Given the description of an element on the screen output the (x, y) to click on. 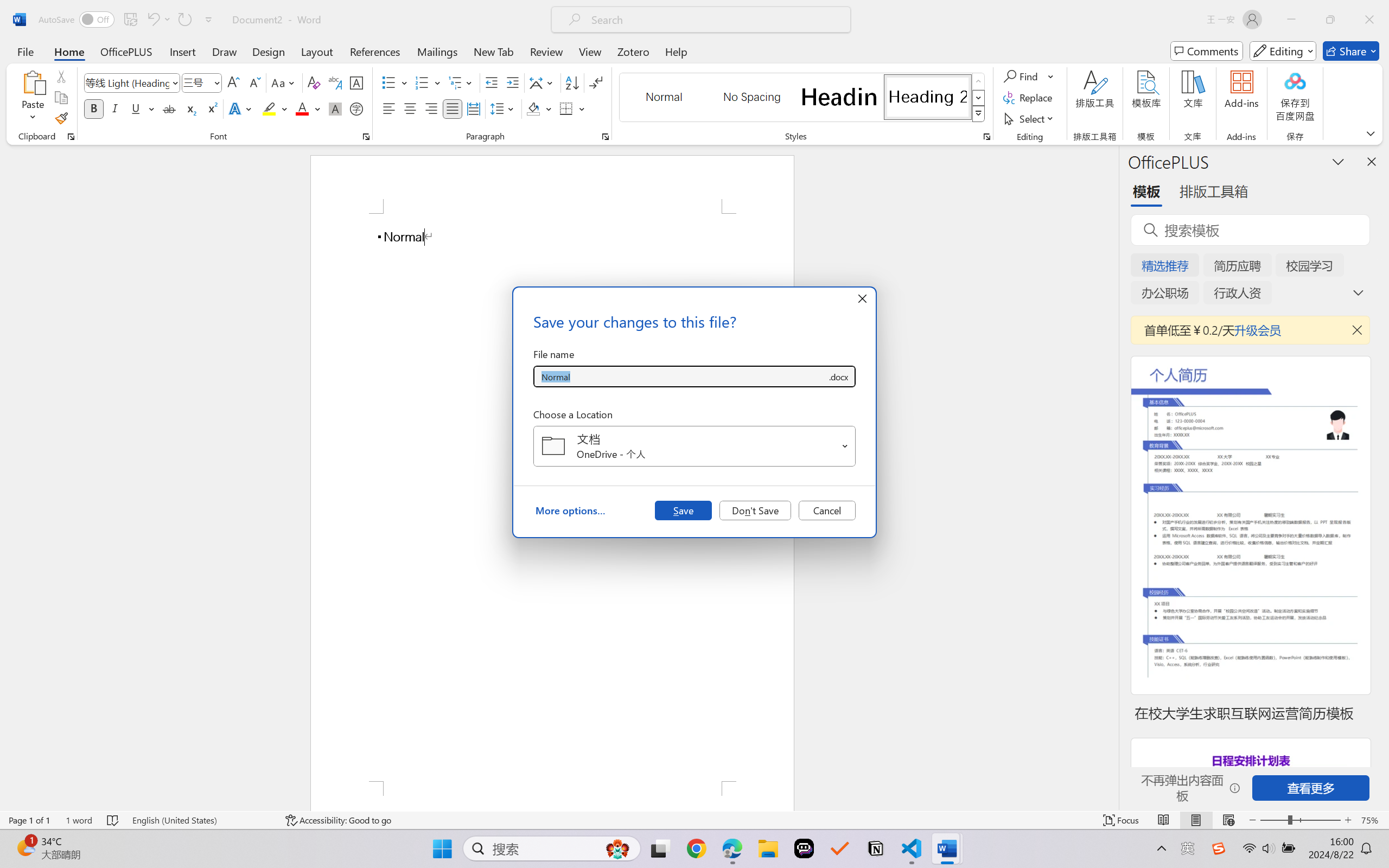
Phonetic Guide... (334, 82)
Bullets (395, 82)
Shading (539, 108)
Comments (1206, 50)
Justify (452, 108)
Web Layout (1228, 819)
Font (126, 82)
Copy (60, 97)
Sort... (571, 82)
Mailings (437, 51)
Page Number Page 1 of 1 (29, 819)
Text Highlight Color Yellow (269, 108)
